Given the description of an element on the screen output the (x, y) to click on. 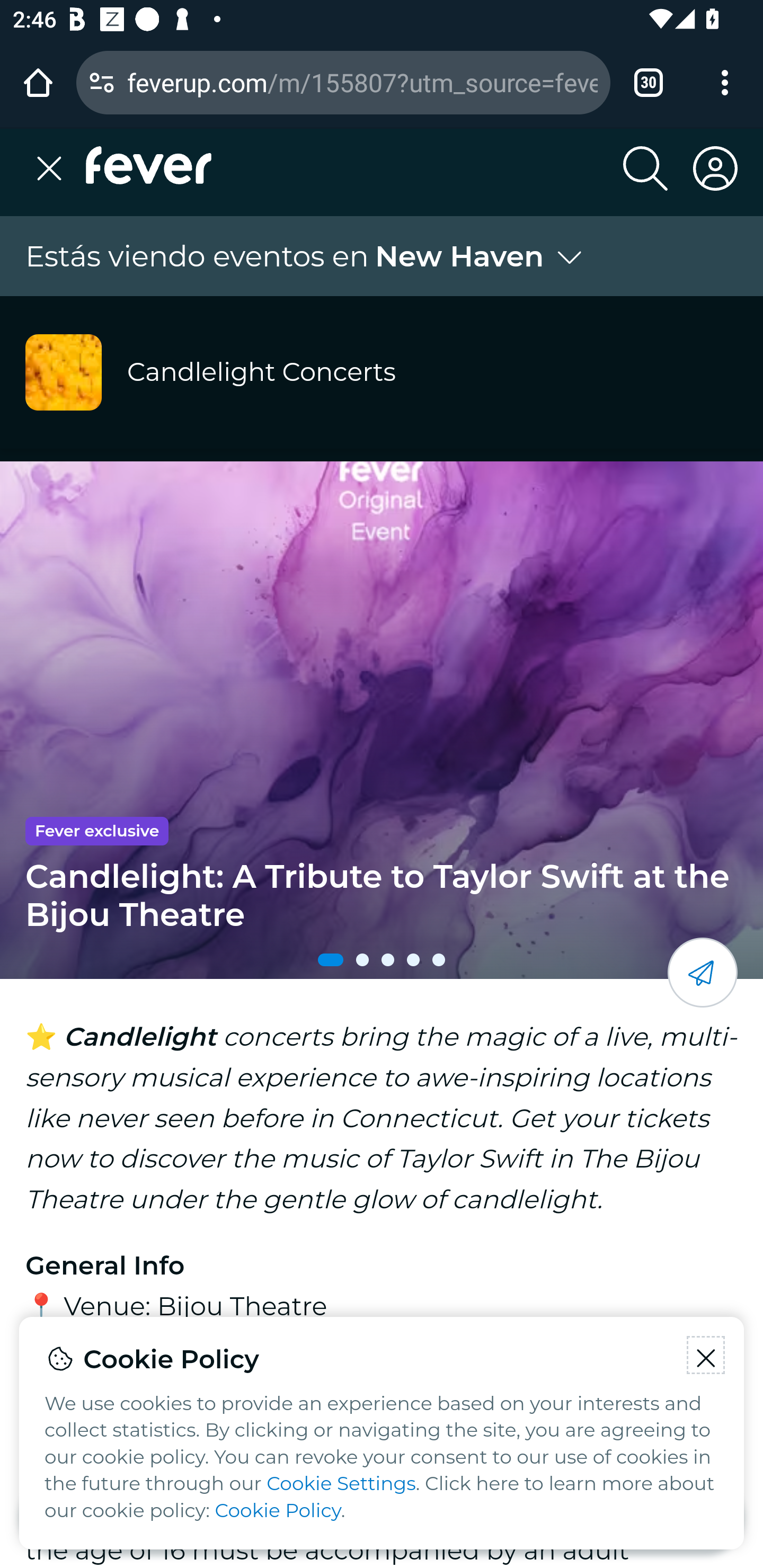
Open the home page (38, 82)
Connection is secure (101, 82)
Switch or close tabs (648, 82)
Customize and control Google Chrome (724, 82)
Toggle navigation (55, 168)
Estás viendo eventos en New Haven  (306, 256)
Cookie Settings (340, 1484)
Cookie Policy (277, 1510)
